Given the description of an element on the screen output the (x, y) to click on. 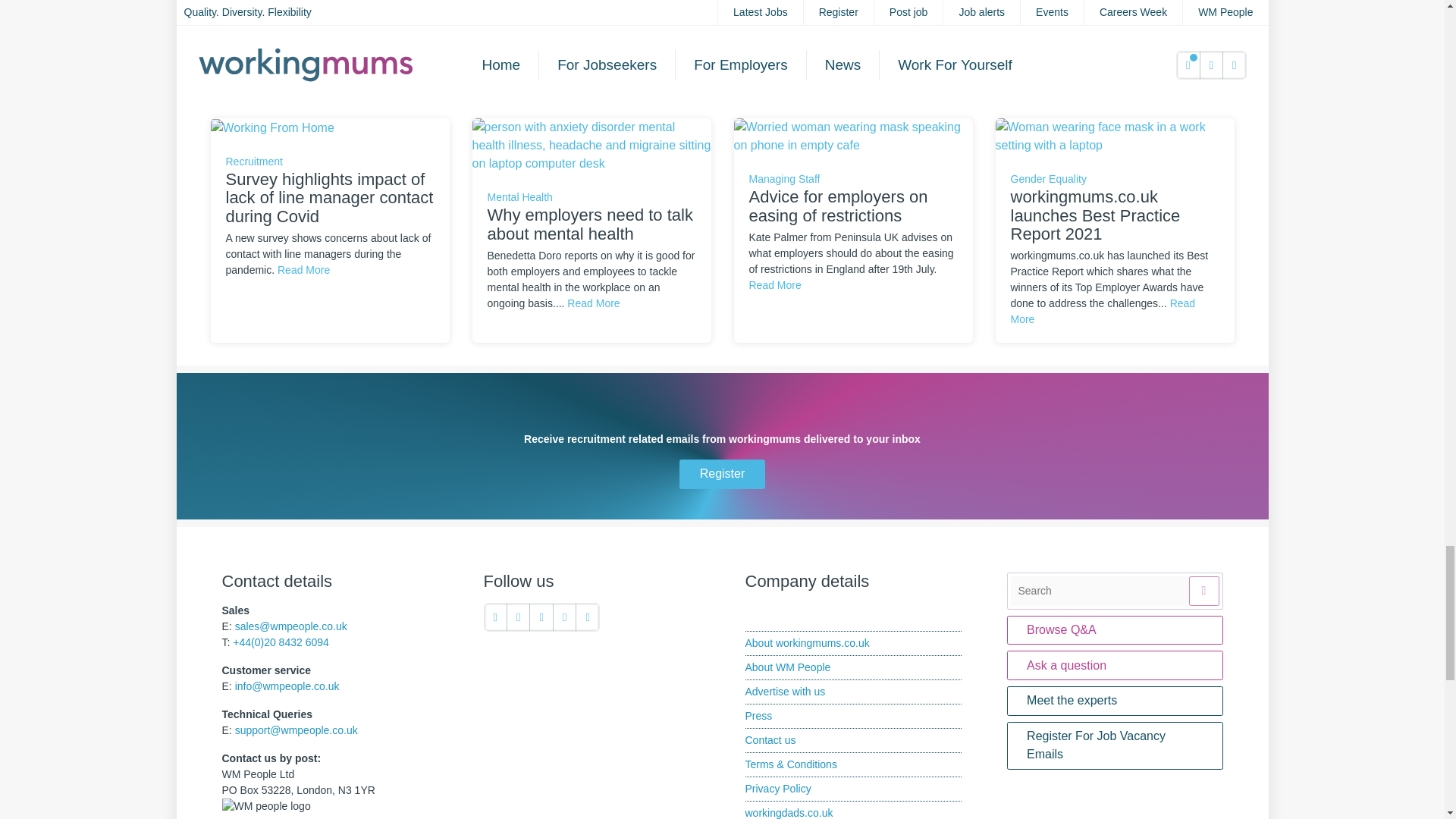
Advice for employers on easing of restrictions (852, 135)
Why employers need to talk about mental health (590, 144)
workingmums.co.uk launches Best Practice Report 2021 (1113, 135)
